Given the description of an element on the screen output the (x, y) to click on. 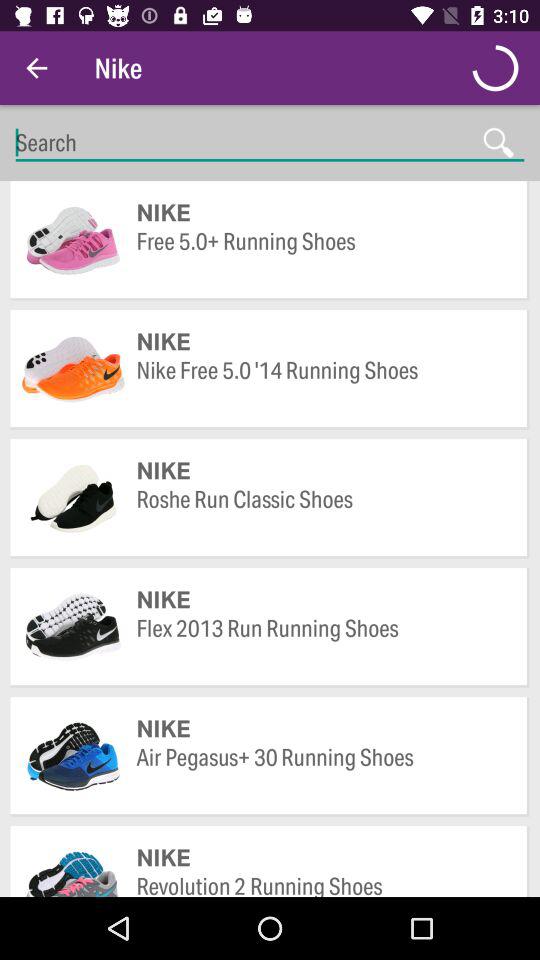
launch the item below the nike icon (322, 642)
